Given the description of an element on the screen output the (x, y) to click on. 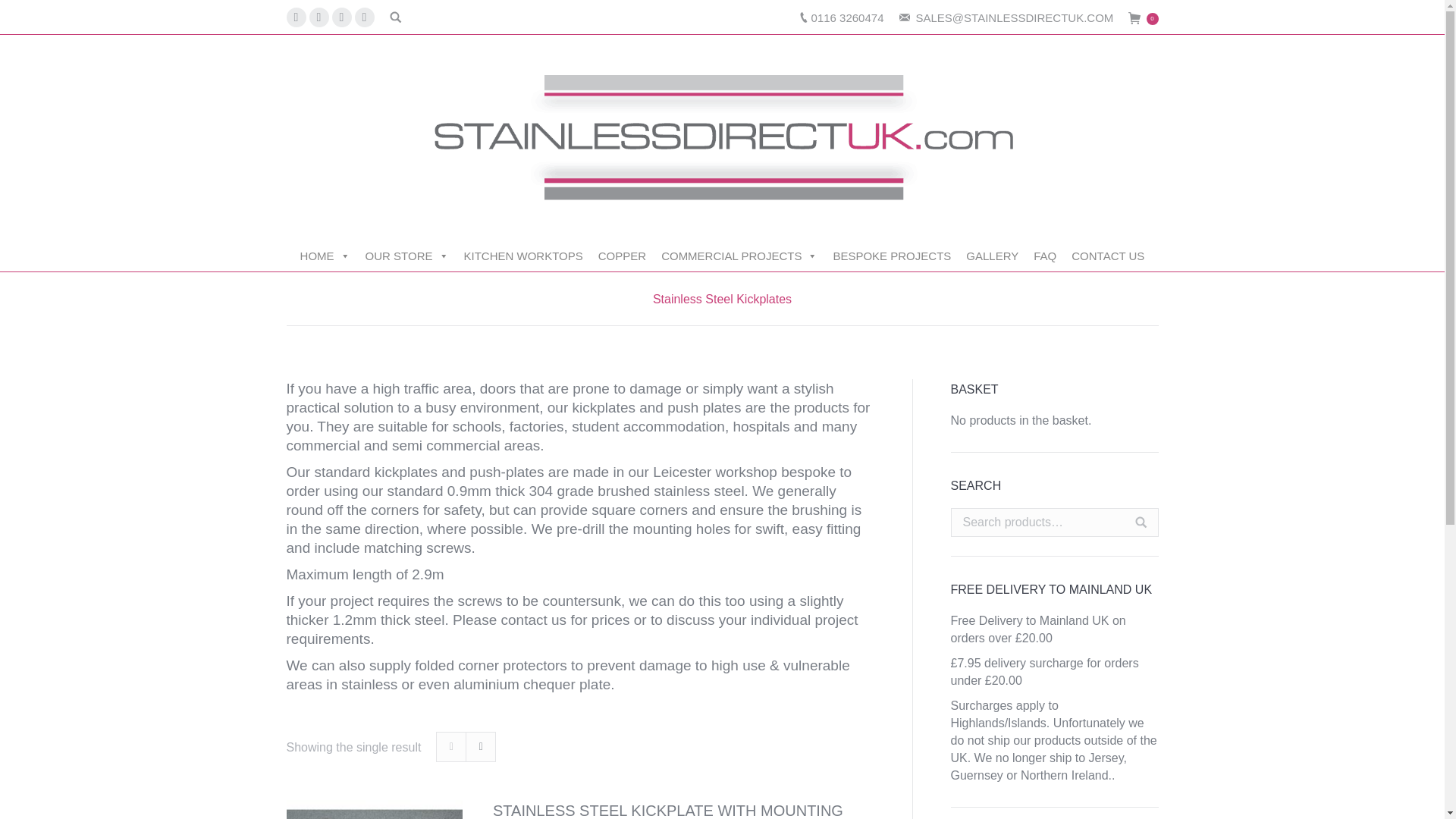
Facebook (295, 17)
Facebook (295, 17)
OUR STORE (407, 255)
Instagram (341, 17)
Pinterest (364, 17)
HOME (325, 255)
Twitter (318, 17)
 0 (1142, 17)
Go! (22, 14)
Instagram (341, 17)
Twitter (318, 17)
Search (1140, 522)
Pinterest (364, 17)
Stainless Steel Kickplate with mounting holes (684, 809)
